Given the description of an element on the screen output the (x, y) to click on. 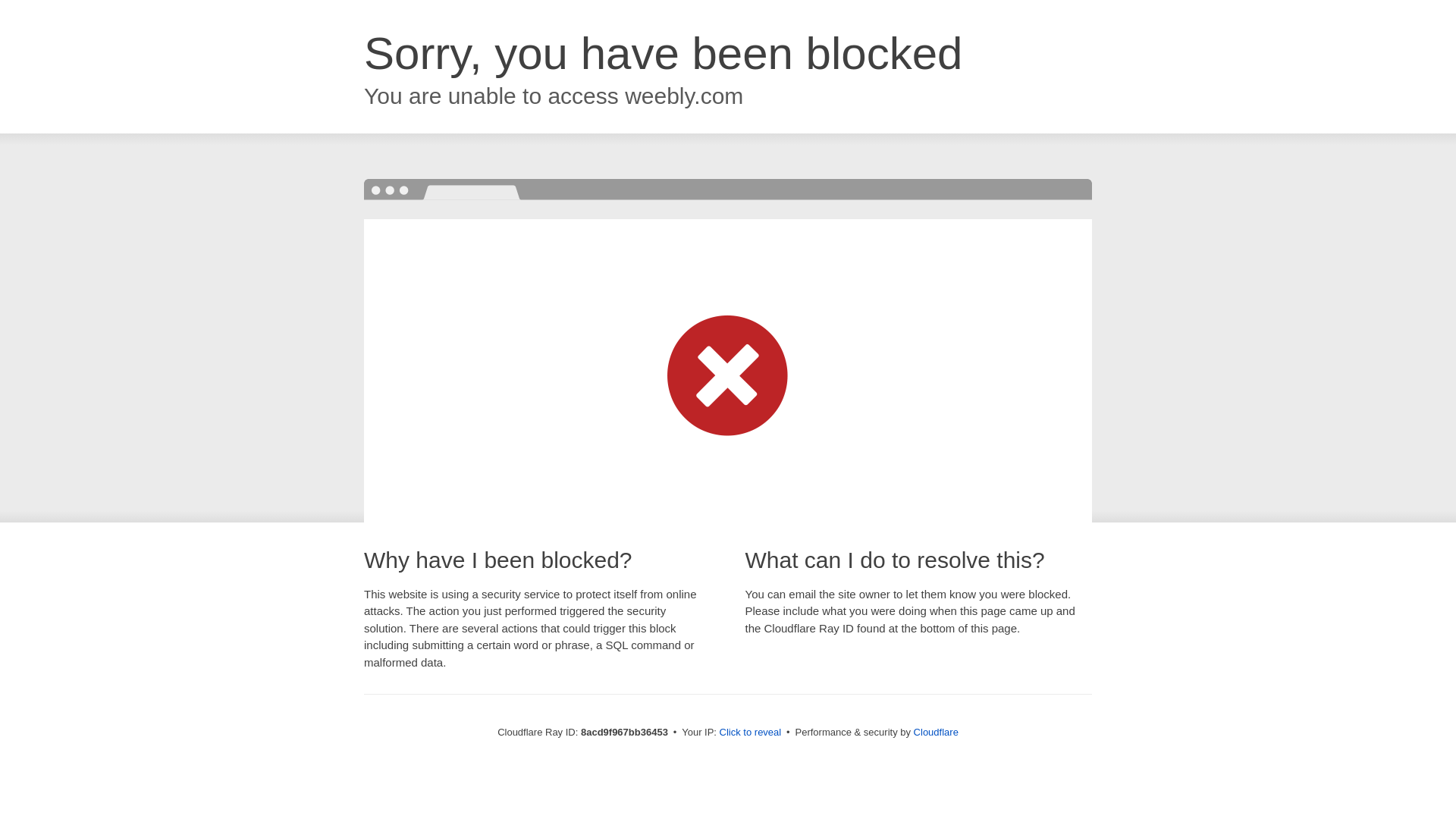
Cloudflare (935, 731)
Click to reveal (749, 732)
